Given the description of an element on the screen output the (x, y) to click on. 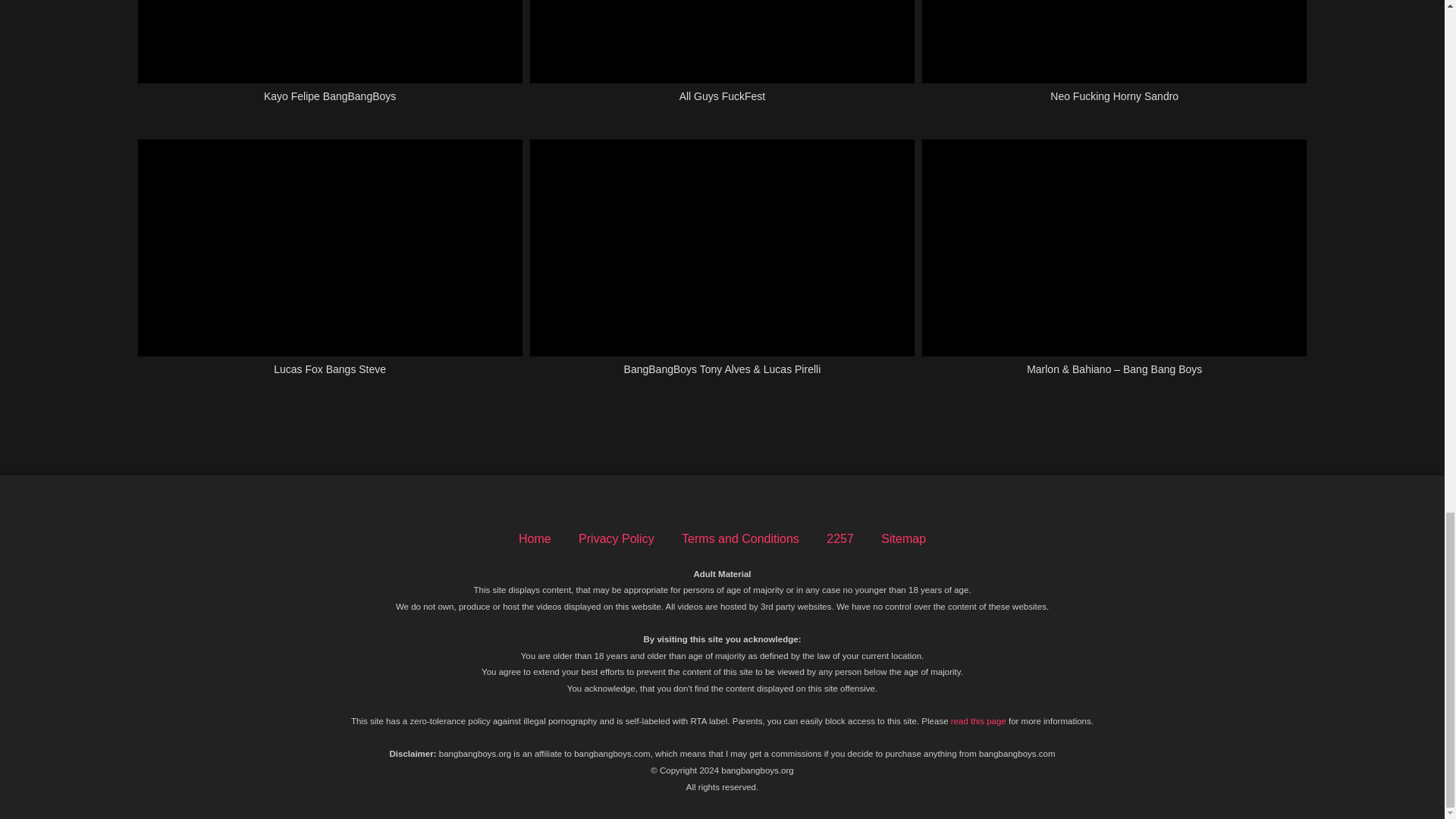
Terms and Conditions (740, 538)
Lucas Fox Bangs Steve (330, 266)
read this page (978, 720)
All Guys FuckFest (721, 59)
Neo Fucking Horny Sandro (1113, 59)
Lucas Fox Bangs Steve (330, 266)
Sitemap (903, 538)
Privacy Policy (615, 538)
Home (534, 538)
Neo Fucking Horny Sandro (1113, 59)
